Given the description of an element on the screen output the (x, y) to click on. 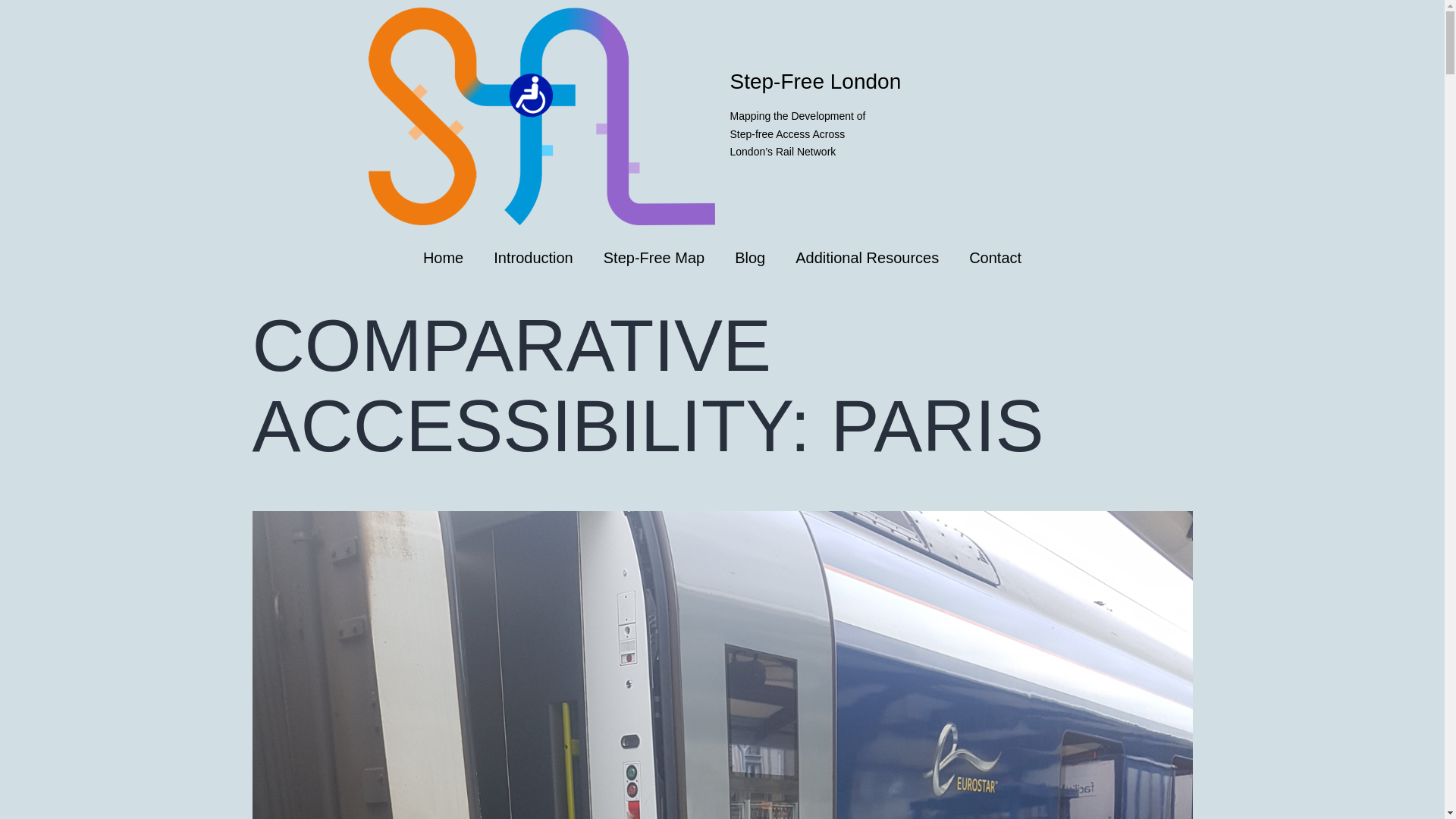
Home (443, 257)
Contact (994, 257)
Blog (749, 257)
Introduction (533, 257)
Step-Free Map (653, 257)
Additional Resources (866, 257)
Step-Free London (815, 81)
